Given the description of an element on the screen output the (x, y) to click on. 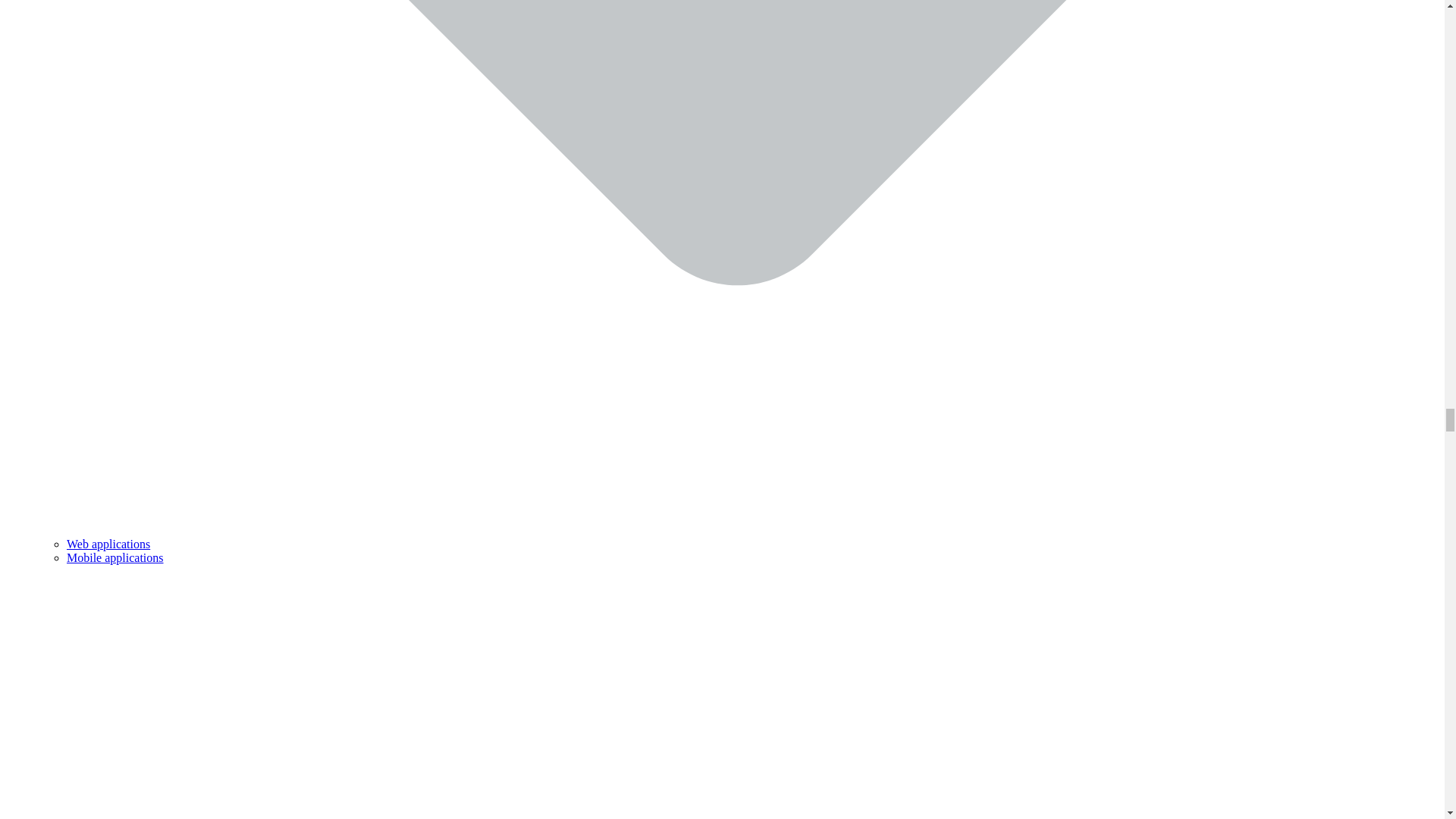
Web applications (107, 543)
